Given the description of an element on the screen output the (x, y) to click on. 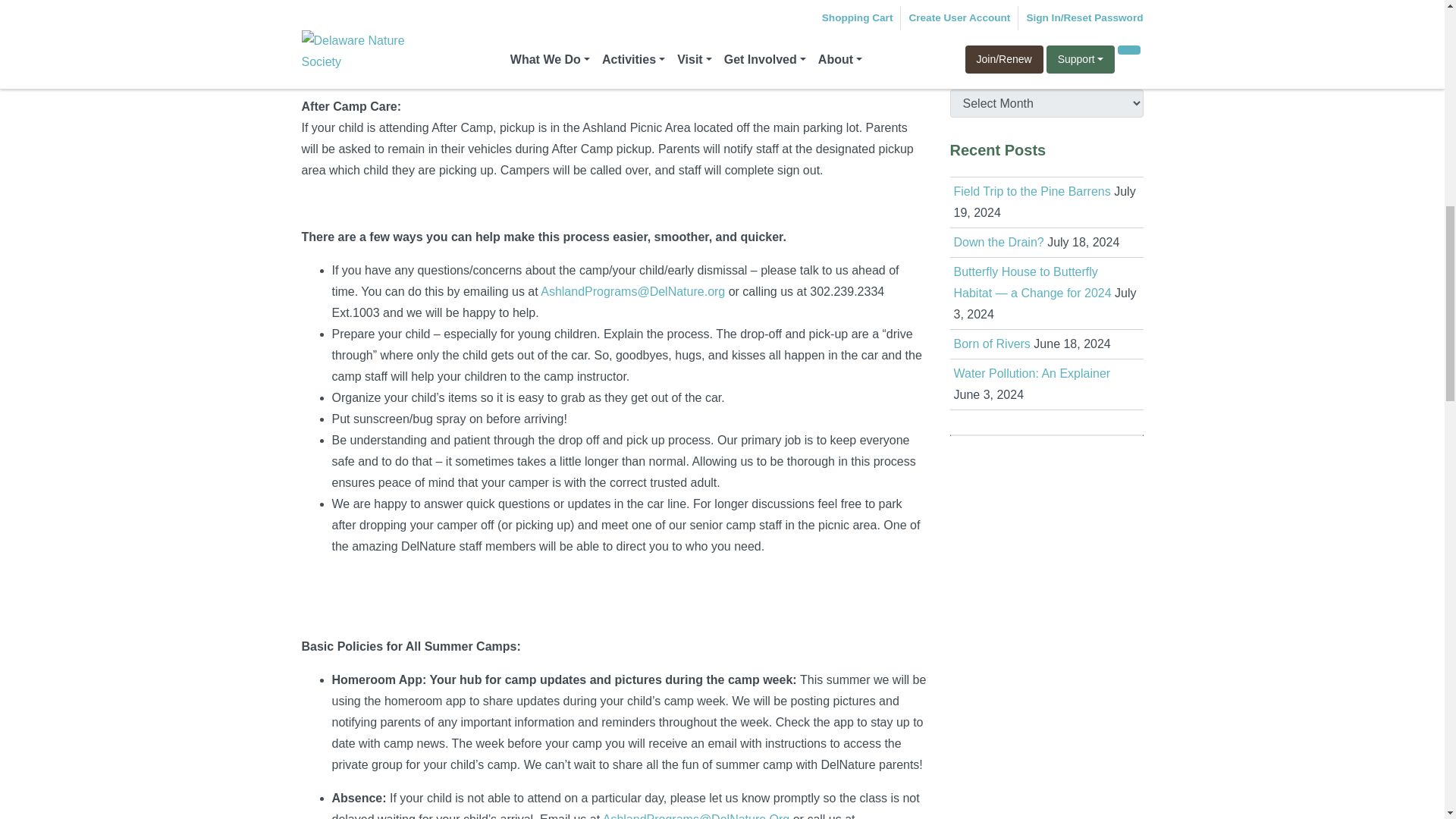
Search for: (1035, 15)
